Given the description of an element on the screen output the (x, y) to click on. 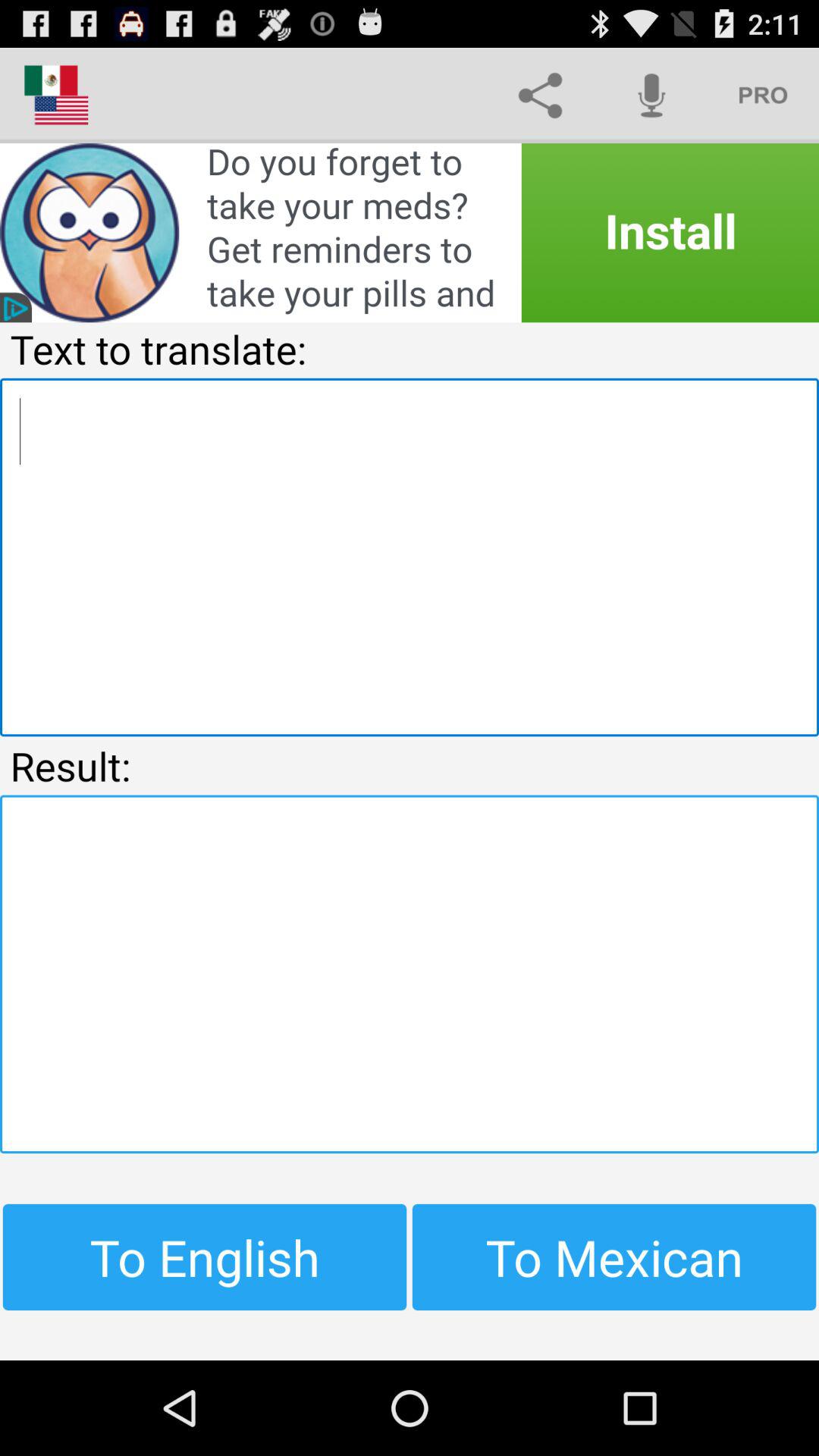
select button at the bottom left corner (204, 1257)
